Given the description of an element on the screen output the (x, y) to click on. 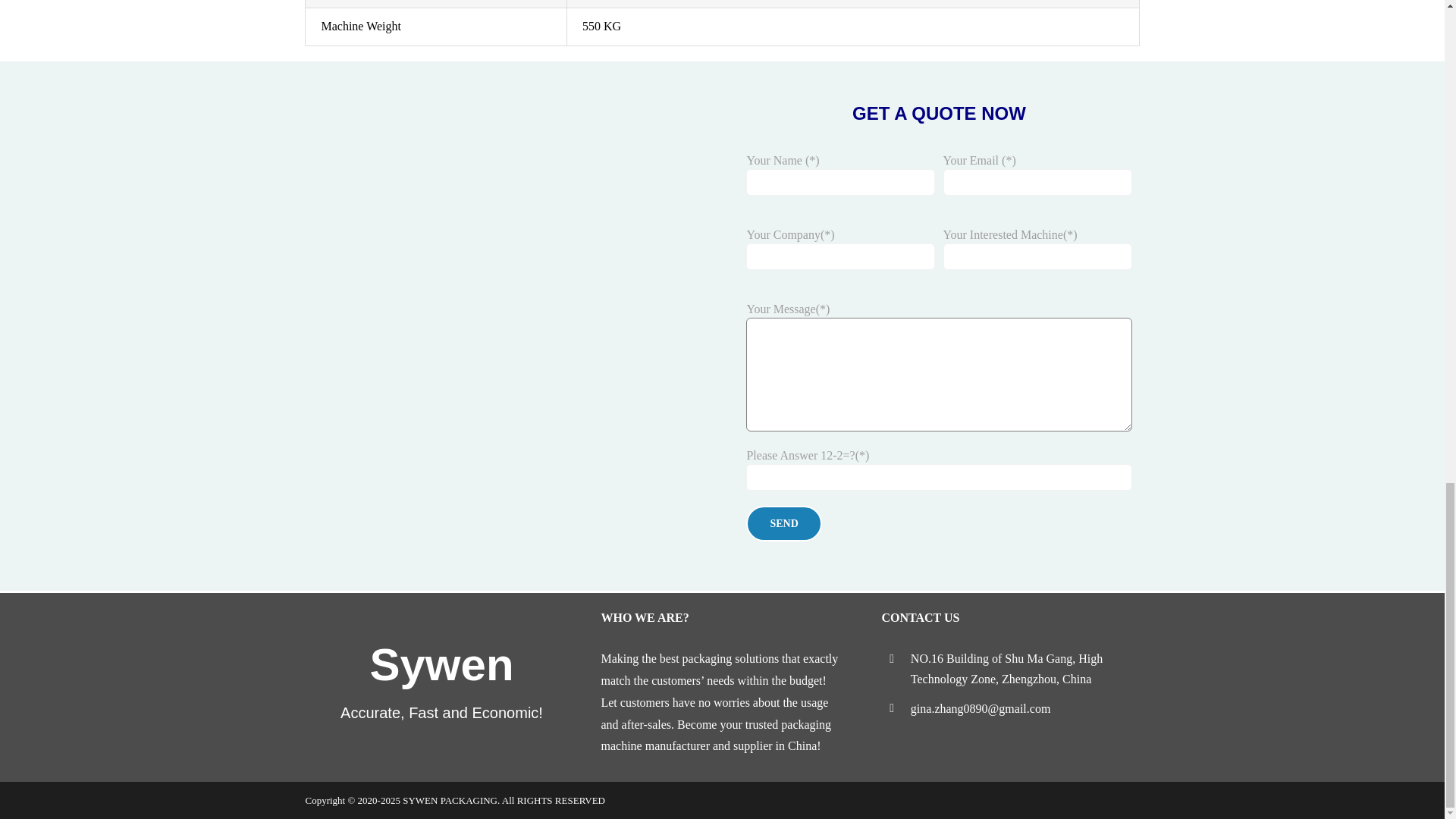
Send (783, 523)
